Given the description of an element on the screen output the (x, y) to click on. 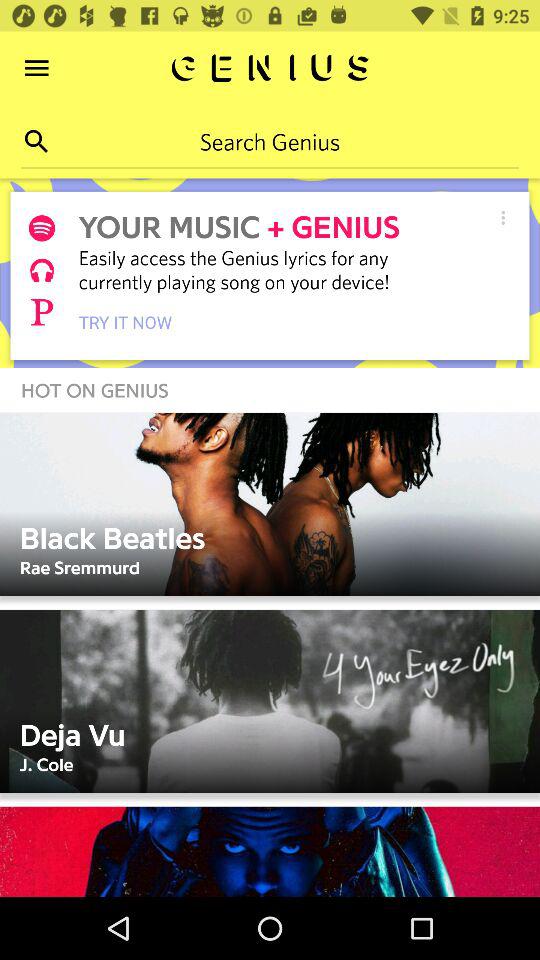
turn on icon at the top right corner (502, 217)
